Given the description of an element on the screen output the (x, y) to click on. 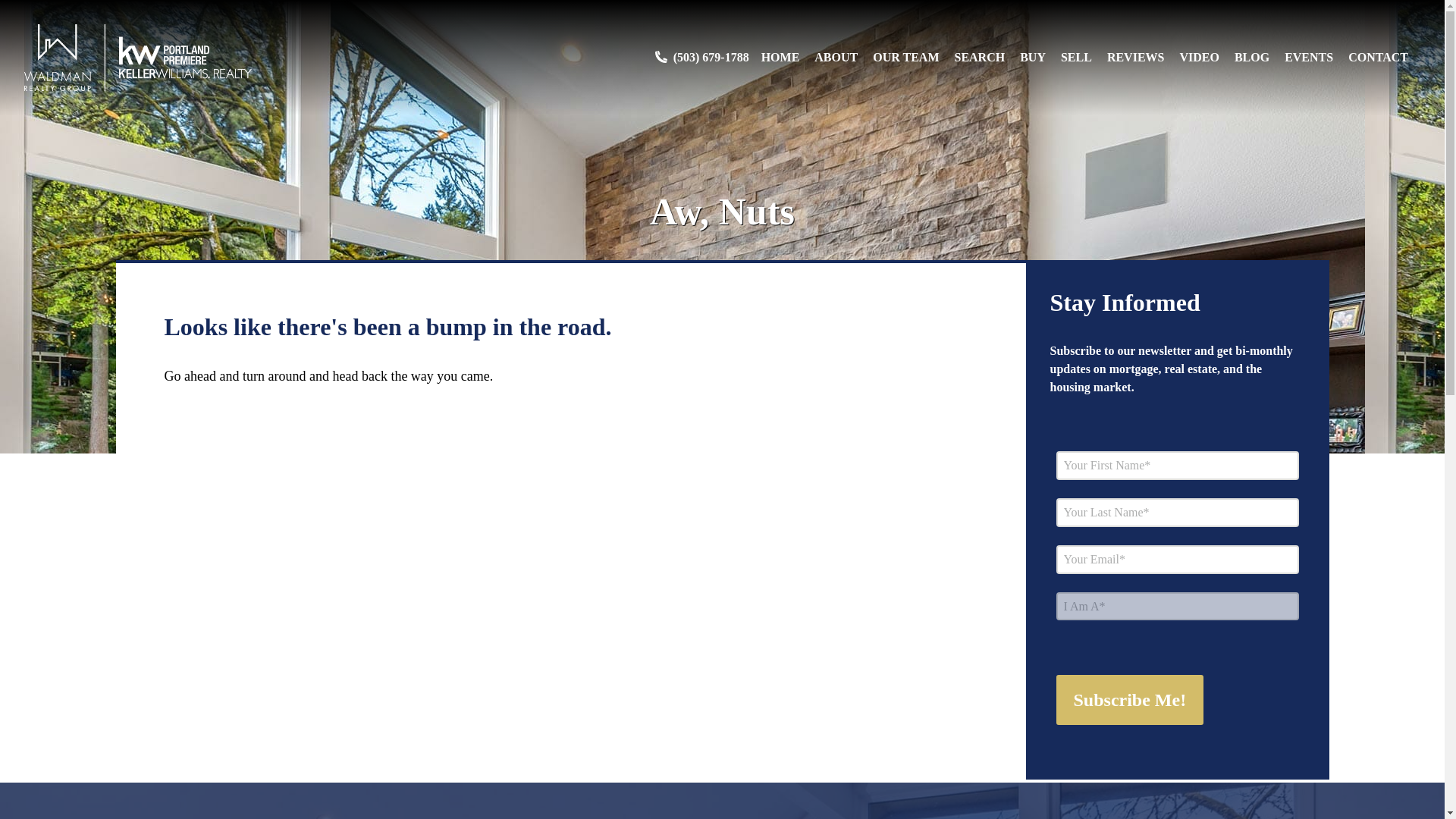
HOME (780, 58)
CONTACT (1377, 58)
ABOUT (835, 58)
EVENTS (1308, 58)
OUR TEAM (905, 58)
VIDEO (1198, 58)
SELL (1076, 58)
SEARCH (978, 58)
BUY (1032, 58)
Subscribe Me! (1129, 699)
BLOG (1251, 58)
REVIEWS (1135, 58)
